Given the description of an element on the screen output the (x, y) to click on. 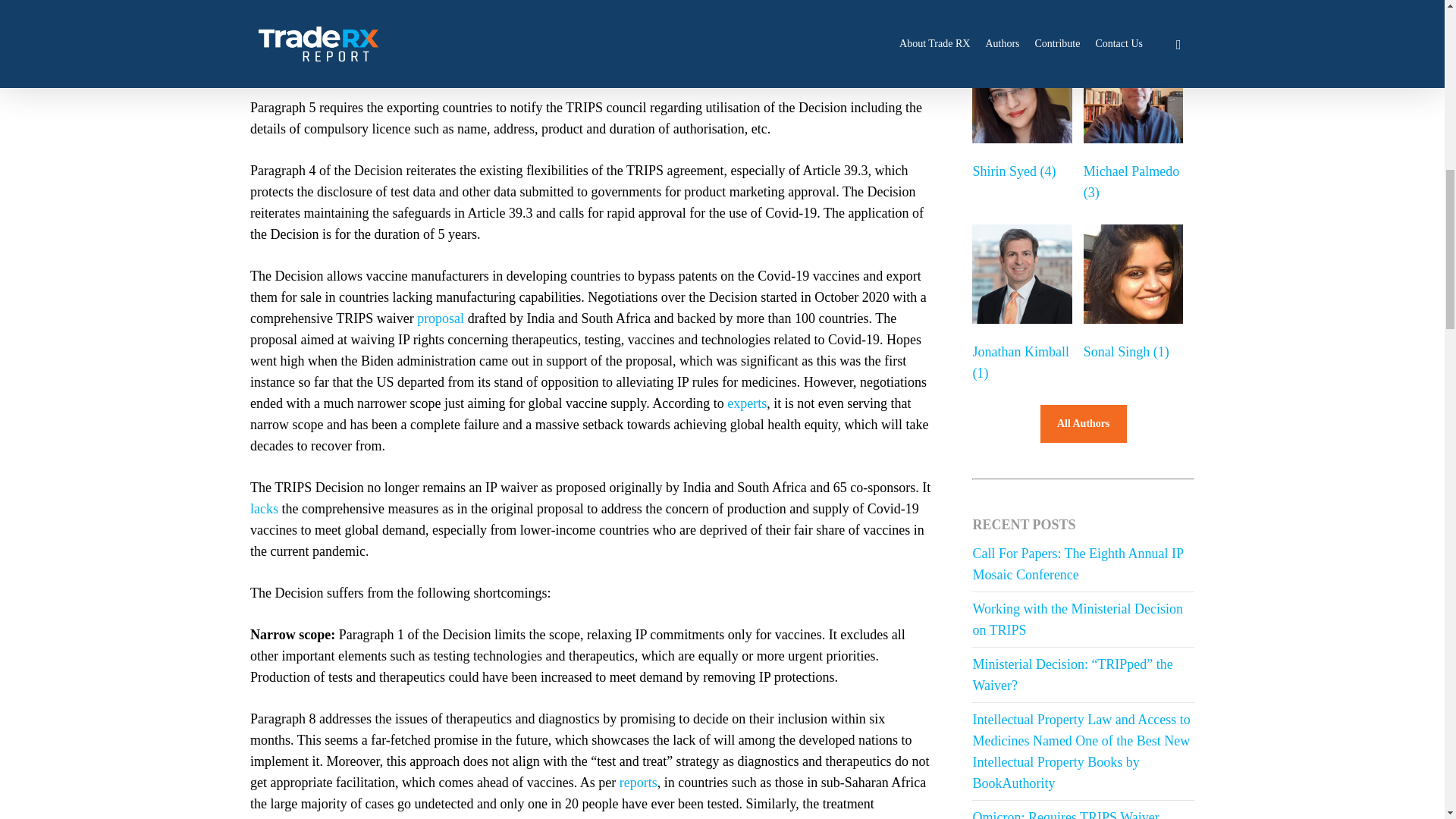
proposal (440, 318)
olnupiravir (768, 818)
reports (639, 782)
lacks (264, 508)
Paxlovid (895, 818)
experts (745, 403)
